Given the description of an element on the screen output the (x, y) to click on. 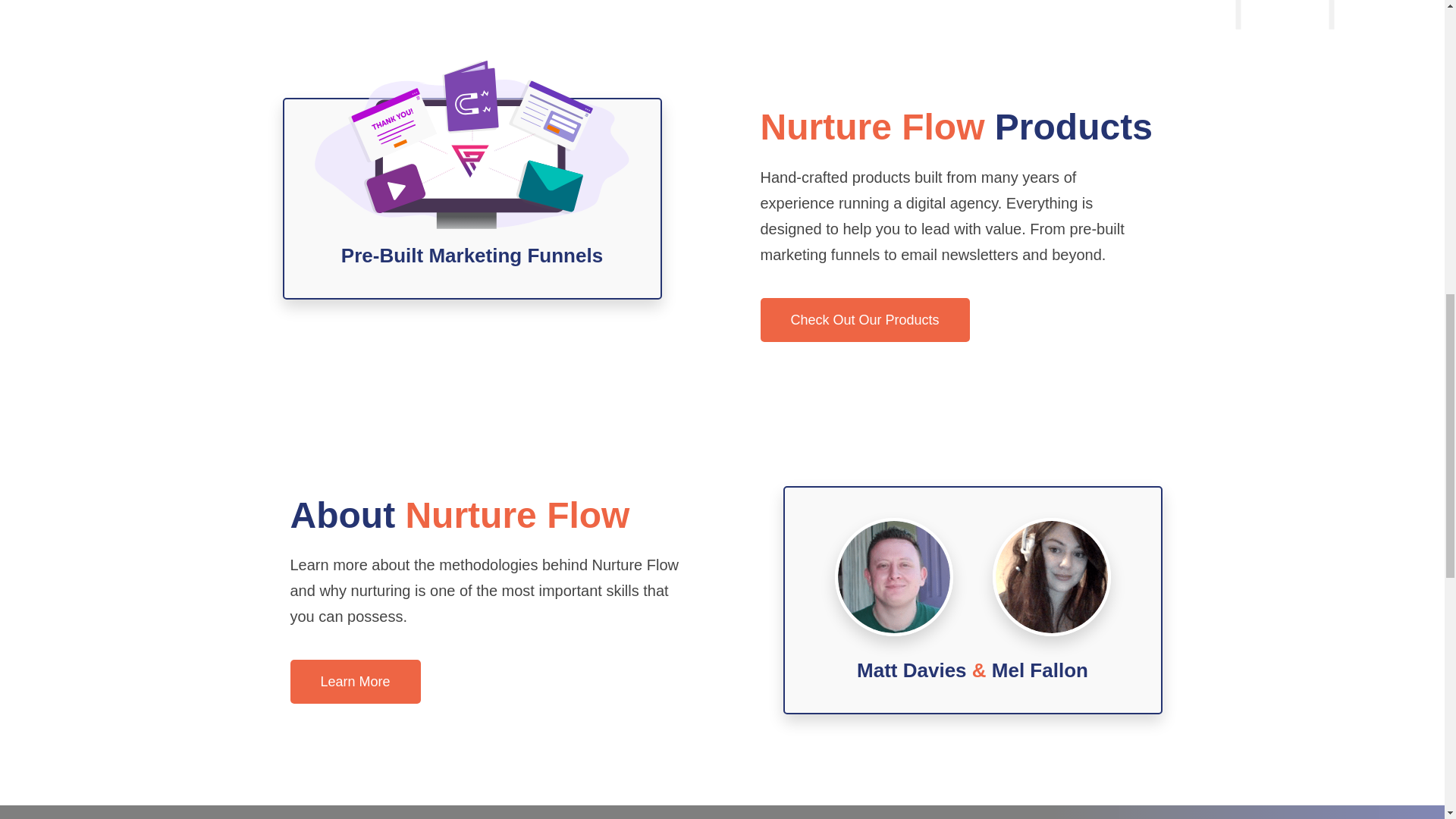
Check Out Our Products (864, 320)
Learn More (354, 681)
